Given the description of an element on the screen output the (x, y) to click on. 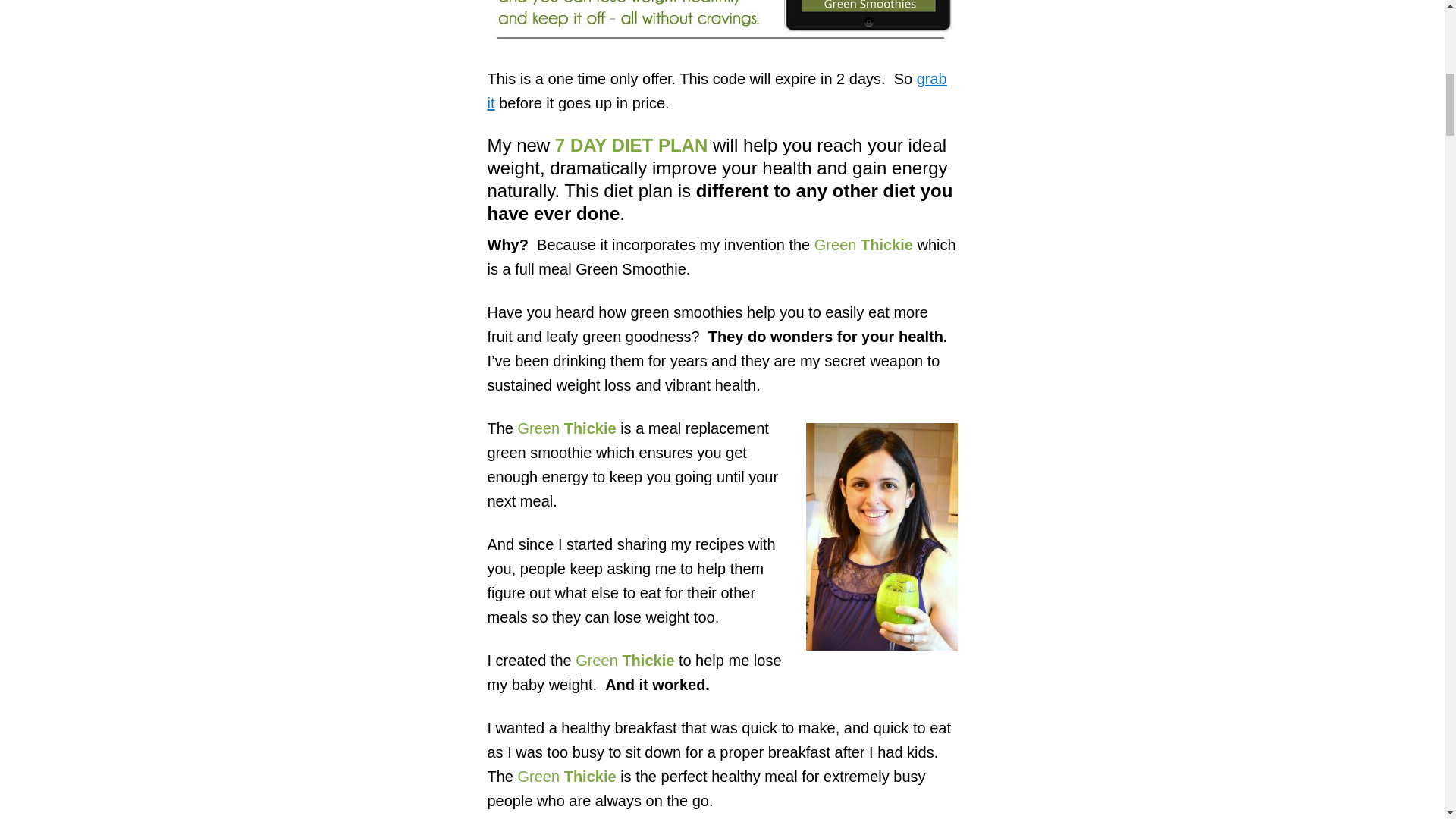
grab it (716, 90)
